Given the description of an element on the screen output the (x, y) to click on. 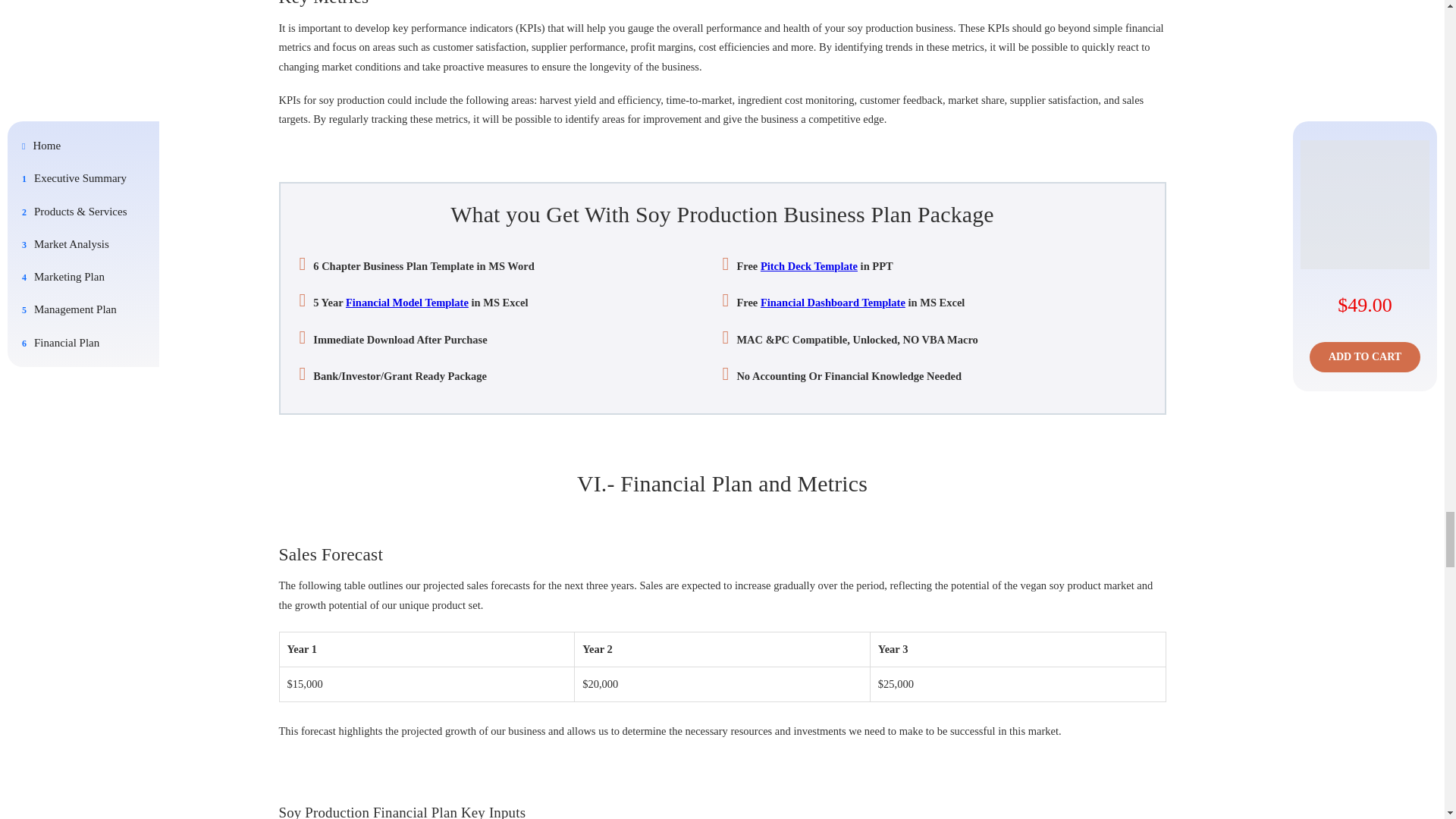
Financial Dashboard Template (832, 302)
Financial Model Template (407, 302)
Pitch Deck Template (808, 265)
